Given the description of an element on the screen output the (x, y) to click on. 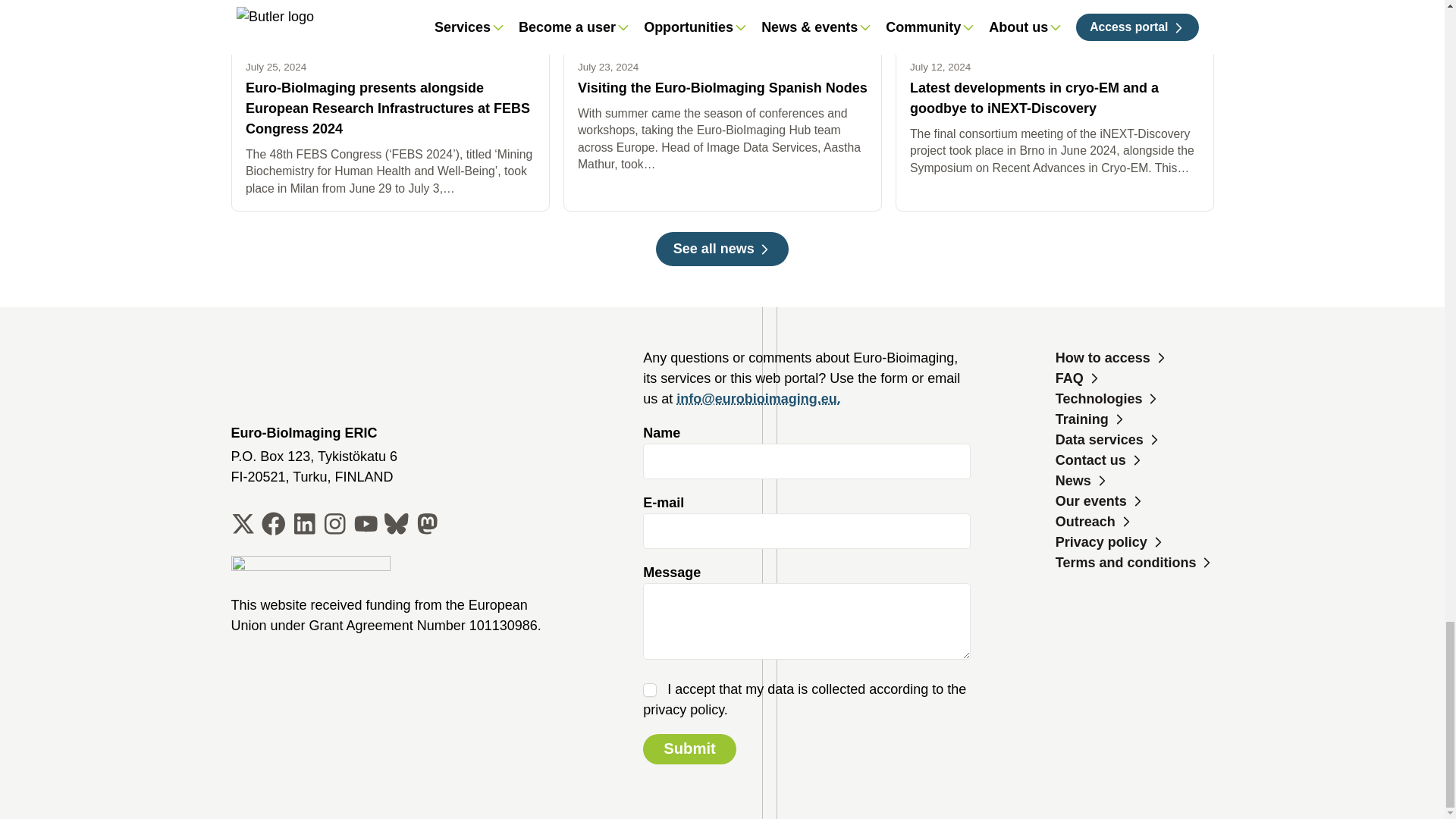
1 (649, 689)
Submit (689, 748)
